Given the description of an element on the screen output the (x, y) to click on. 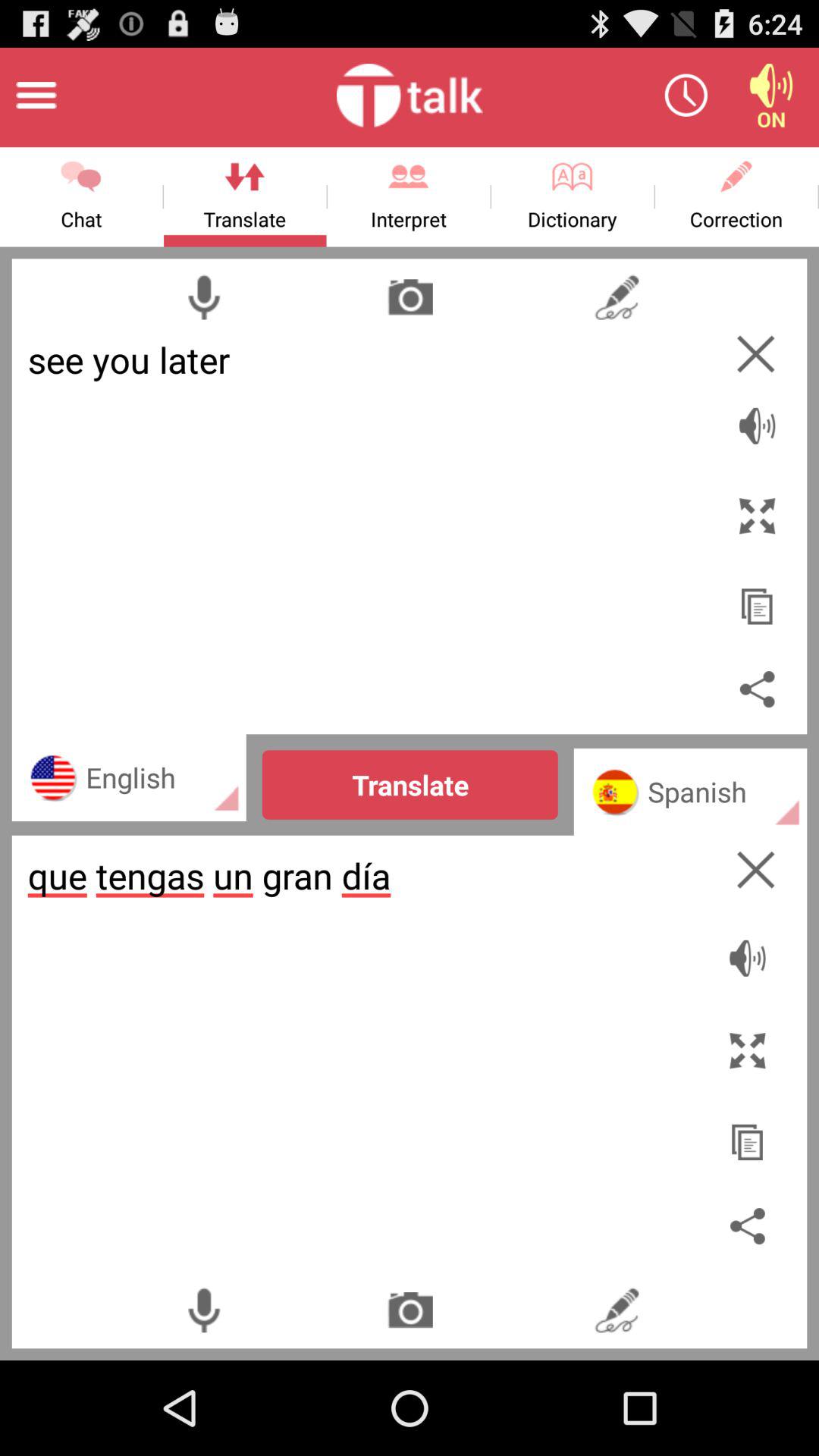
cancel (755, 353)
